Given the description of an element on the screen output the (x, y) to click on. 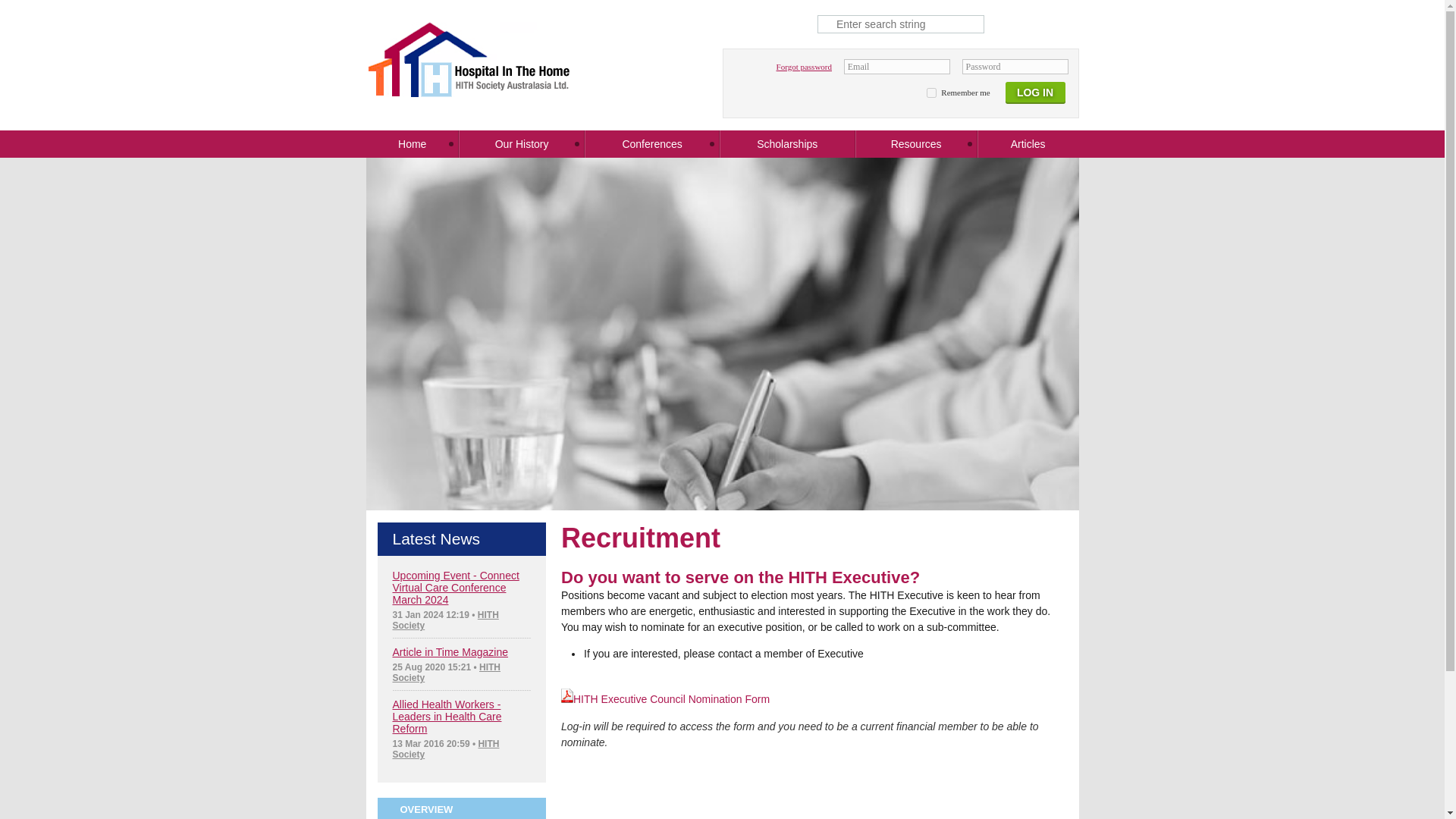
Our History (521, 144)
Resources (916, 144)
Log in (1034, 95)
Resources (916, 144)
Articles (1027, 144)
on (931, 92)
HITH Executive Council Nomination Form (665, 698)
Home (411, 144)
OVERVIEW (462, 808)
Allied Health Workers - Leaders in Health Care Reform (447, 716)
Article in Time Magazine (450, 652)
Conferences (652, 144)
Articles (1027, 144)
Conferences (652, 144)
Our History (521, 144)
